Given the description of an element on the screen output the (x, y) to click on. 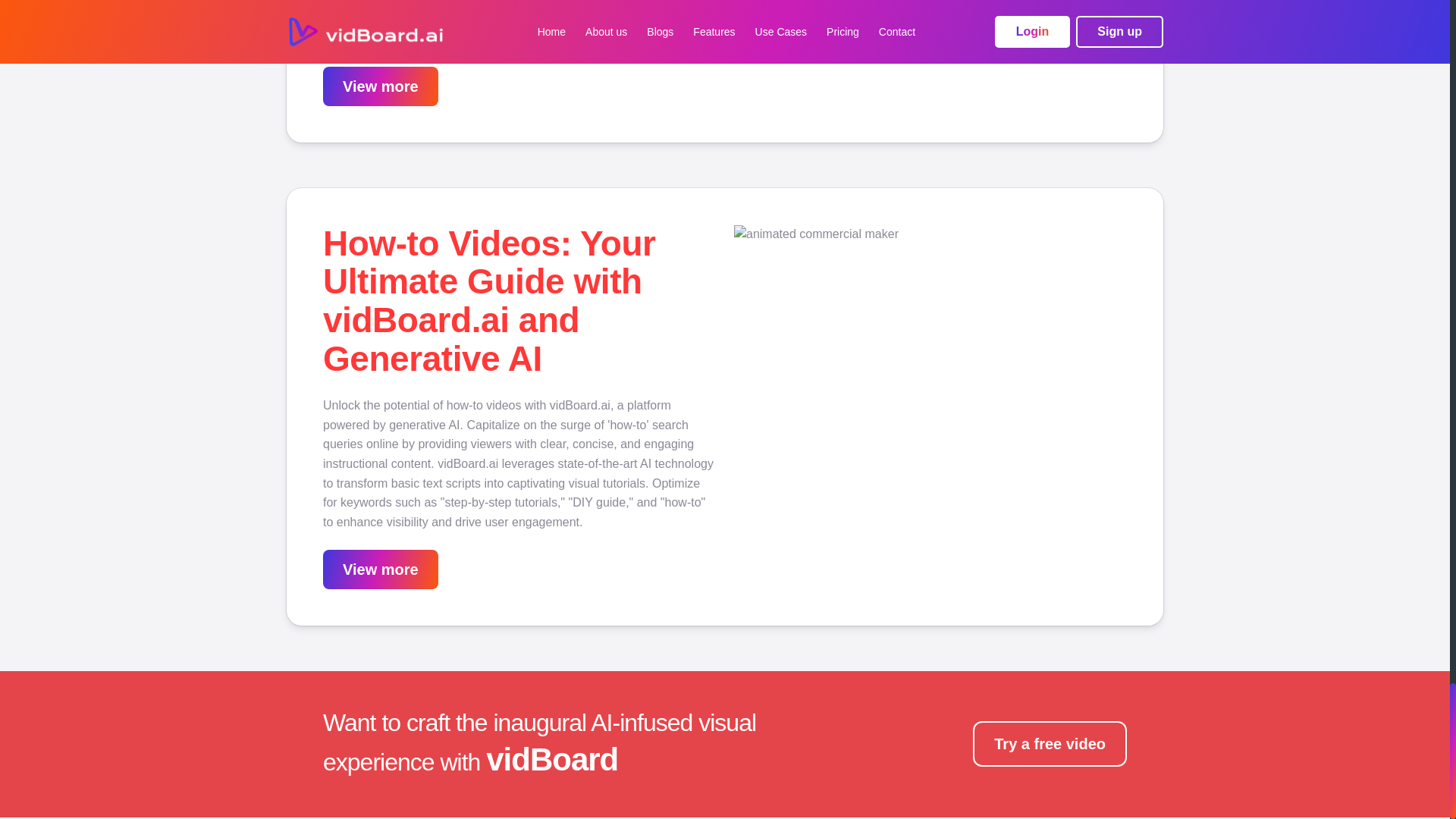
View more (380, 568)
View more (380, 570)
Try a free video (1049, 743)
View more (380, 86)
View more (380, 87)
